Given the description of an element on the screen output the (x, y) to click on. 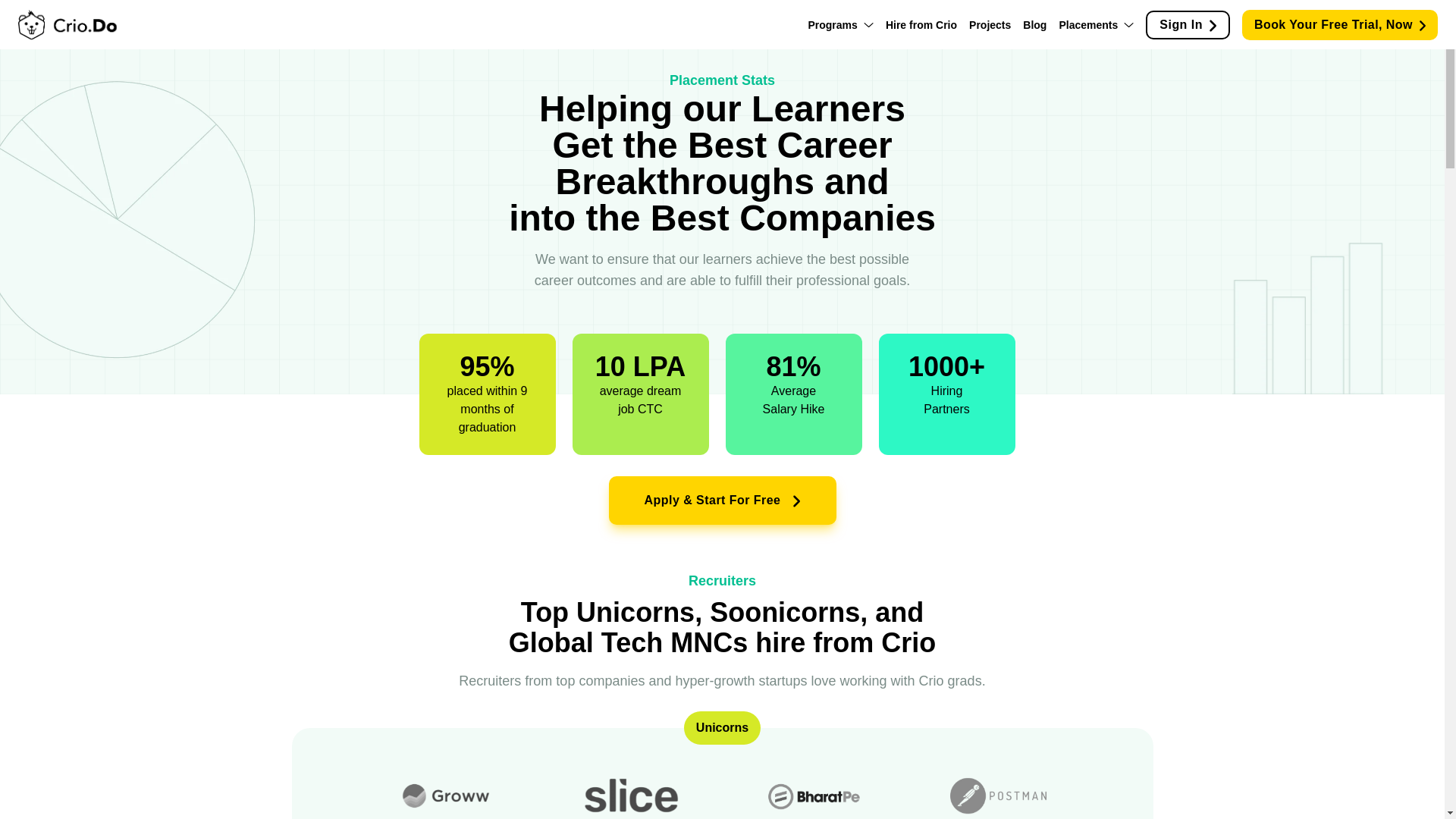
Sign In (1187, 24)
Projects (989, 23)
Book Your Free Trial, Now (1339, 24)
Blog (1034, 23)
Hire from Crio (920, 23)
